Given the description of an element on the screen output the (x, y) to click on. 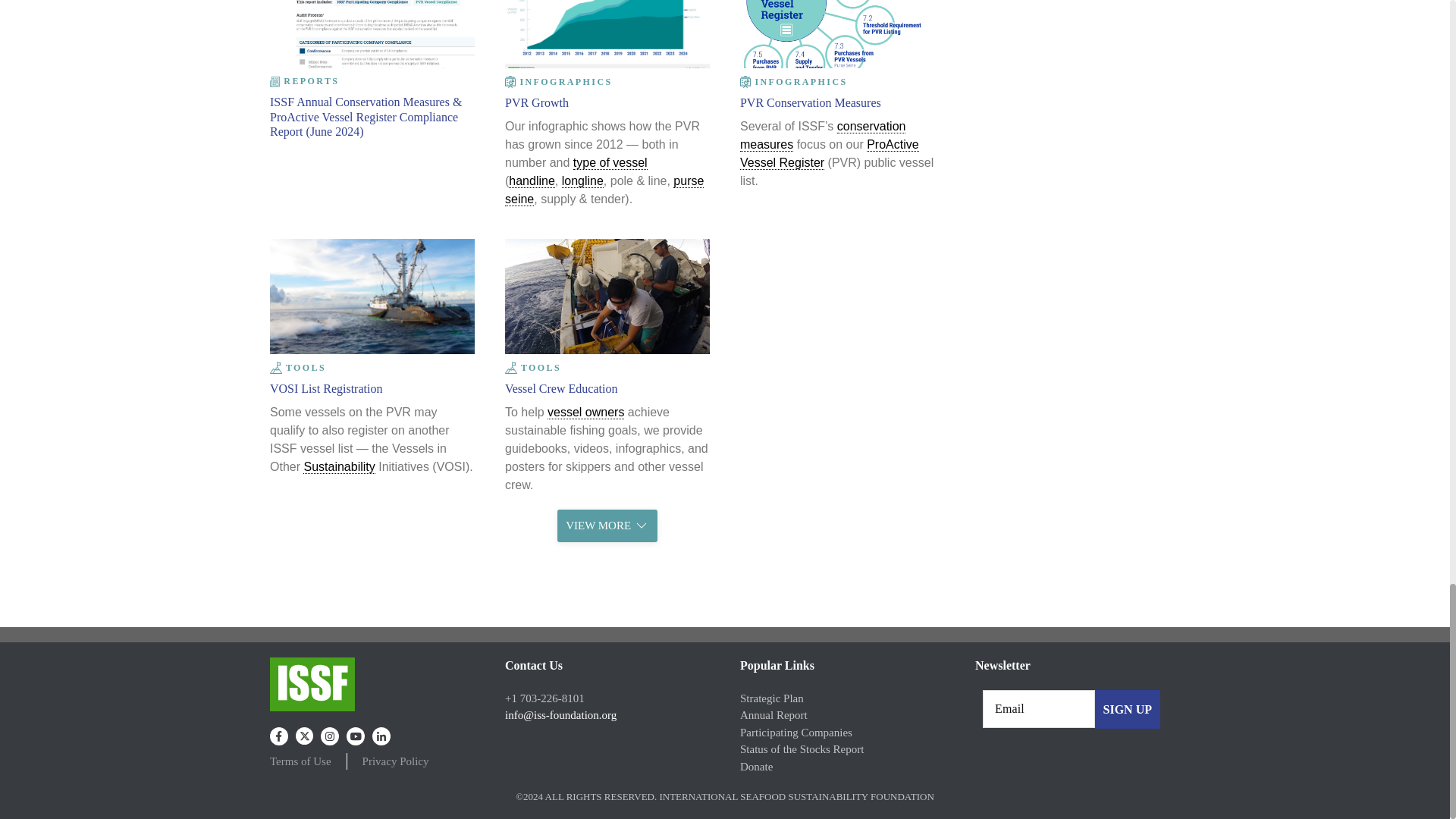
Sign Up (1127, 709)
